Given the description of an element on the screen output the (x, y) to click on. 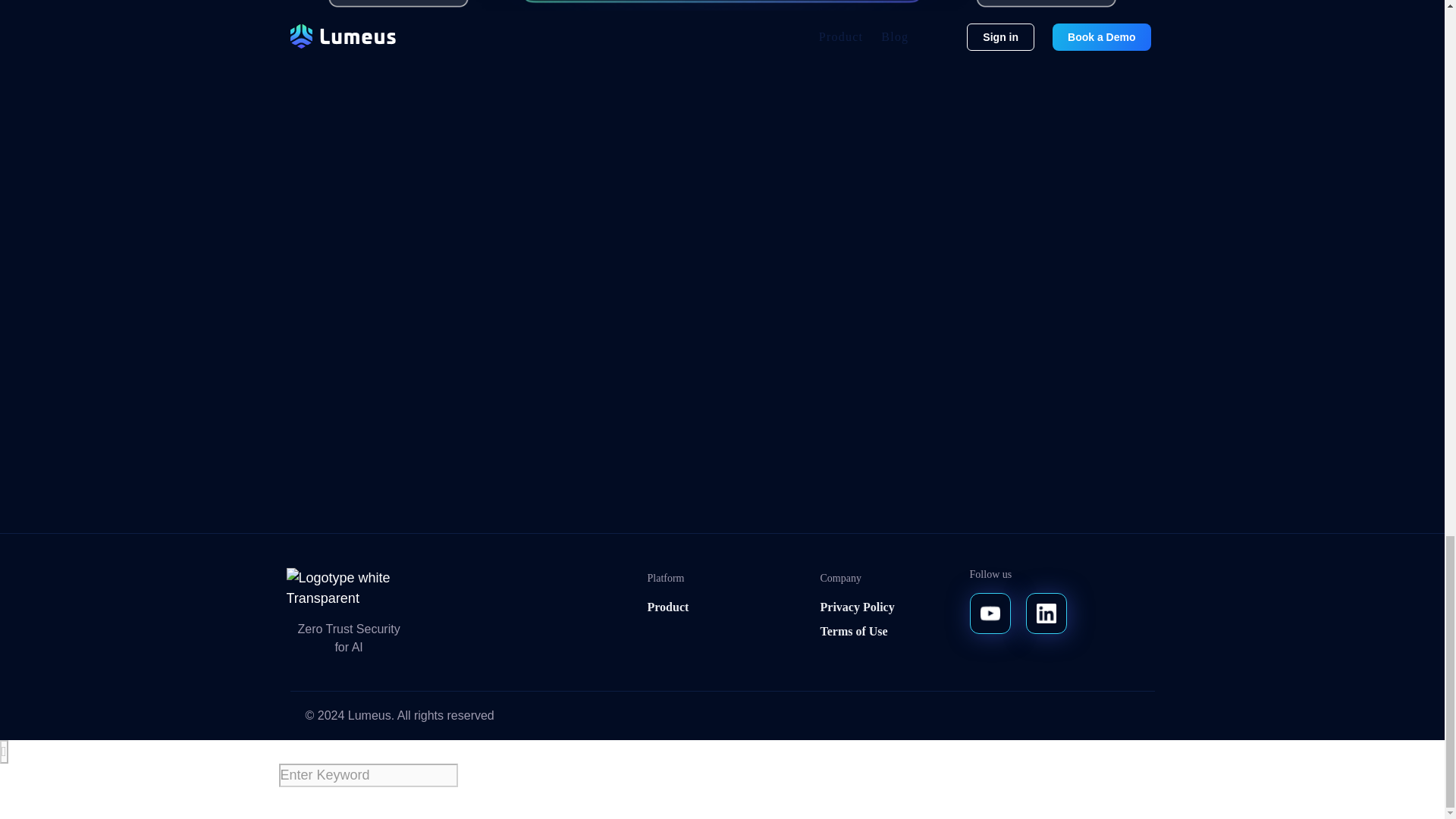
Product (667, 685)
Privacy Policy (858, 685)
Logotype white Transparent (354, 667)
Terms of Use (854, 709)
